Given the description of an element on the screen output the (x, y) to click on. 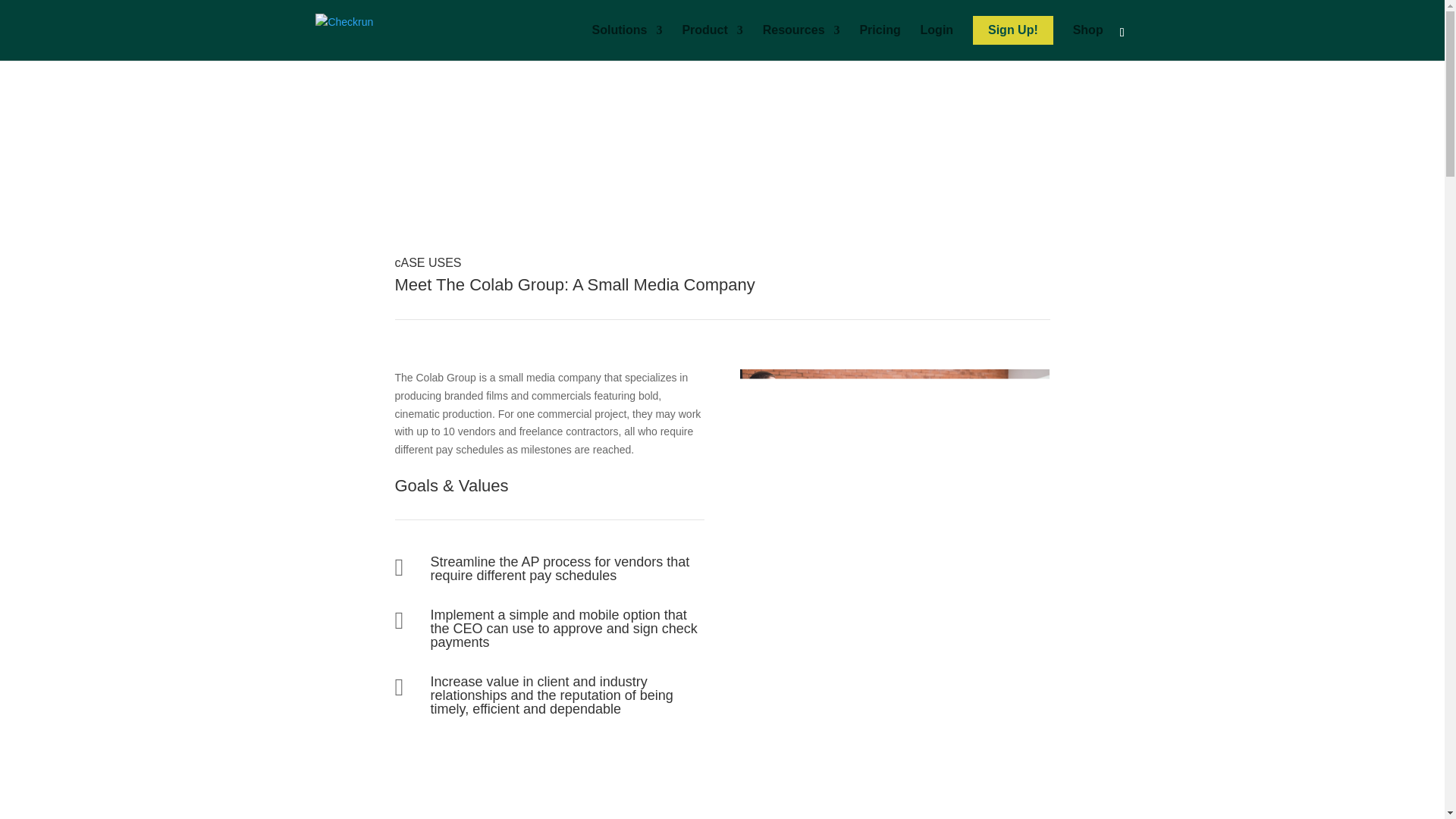
Resources (801, 42)
Pricing (879, 42)
Product (711, 42)
Login (936, 42)
Team of programmers during break in office (894, 465)
Sign Up! (1012, 30)
Solutions (627, 42)
